Given the description of an element on the screen output the (x, y) to click on. 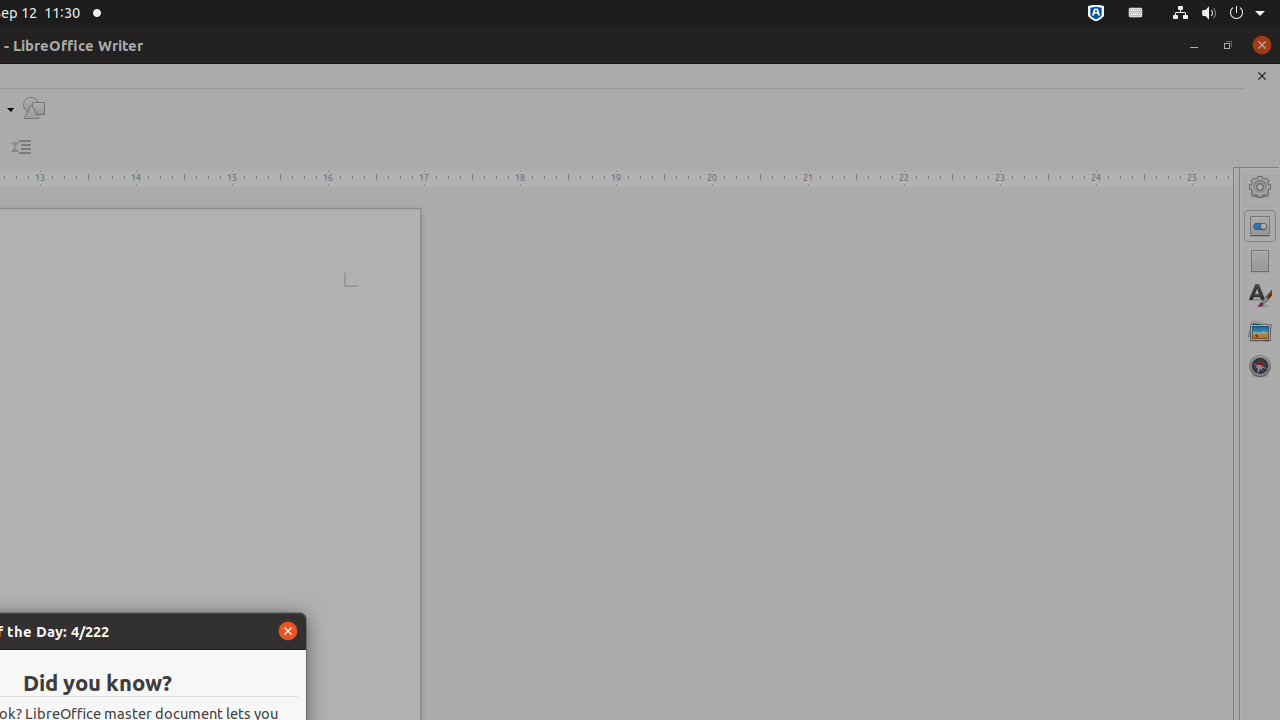
org.kde.StatusNotifierItem-14077-1 Element type: menu (1136, 13)
